Given the description of an element on the screen output the (x, y) to click on. 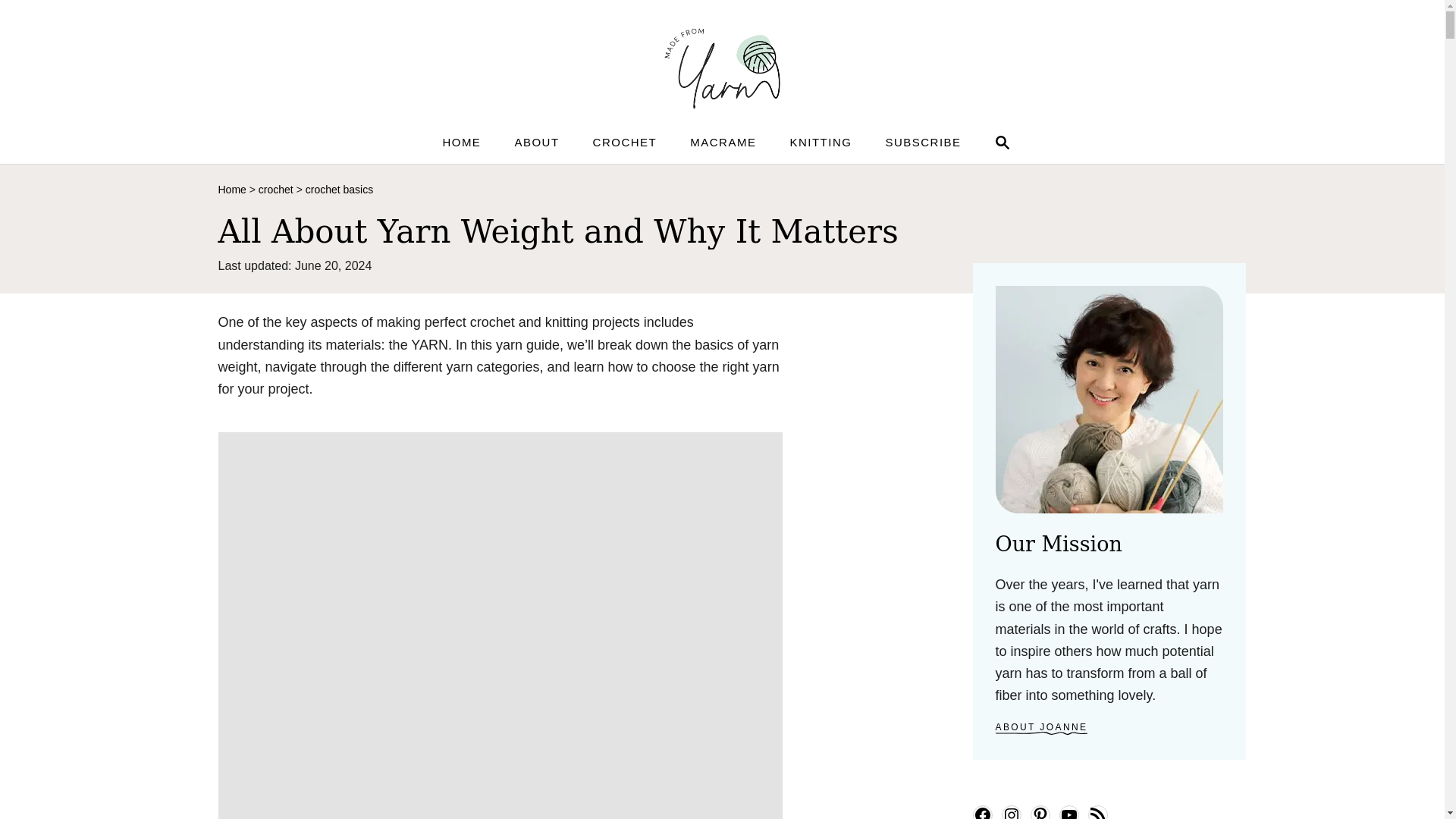
Magnifying Glass (1001, 142)
KNITTING (820, 141)
crochet basics (338, 189)
SUBSCRIBE (922, 141)
Made From Yarn (721, 65)
ABOUT (998, 142)
crochet (536, 141)
CROCHET (276, 189)
MACRAME (624, 141)
